Given the description of an element on the screen output the (x, y) to click on. 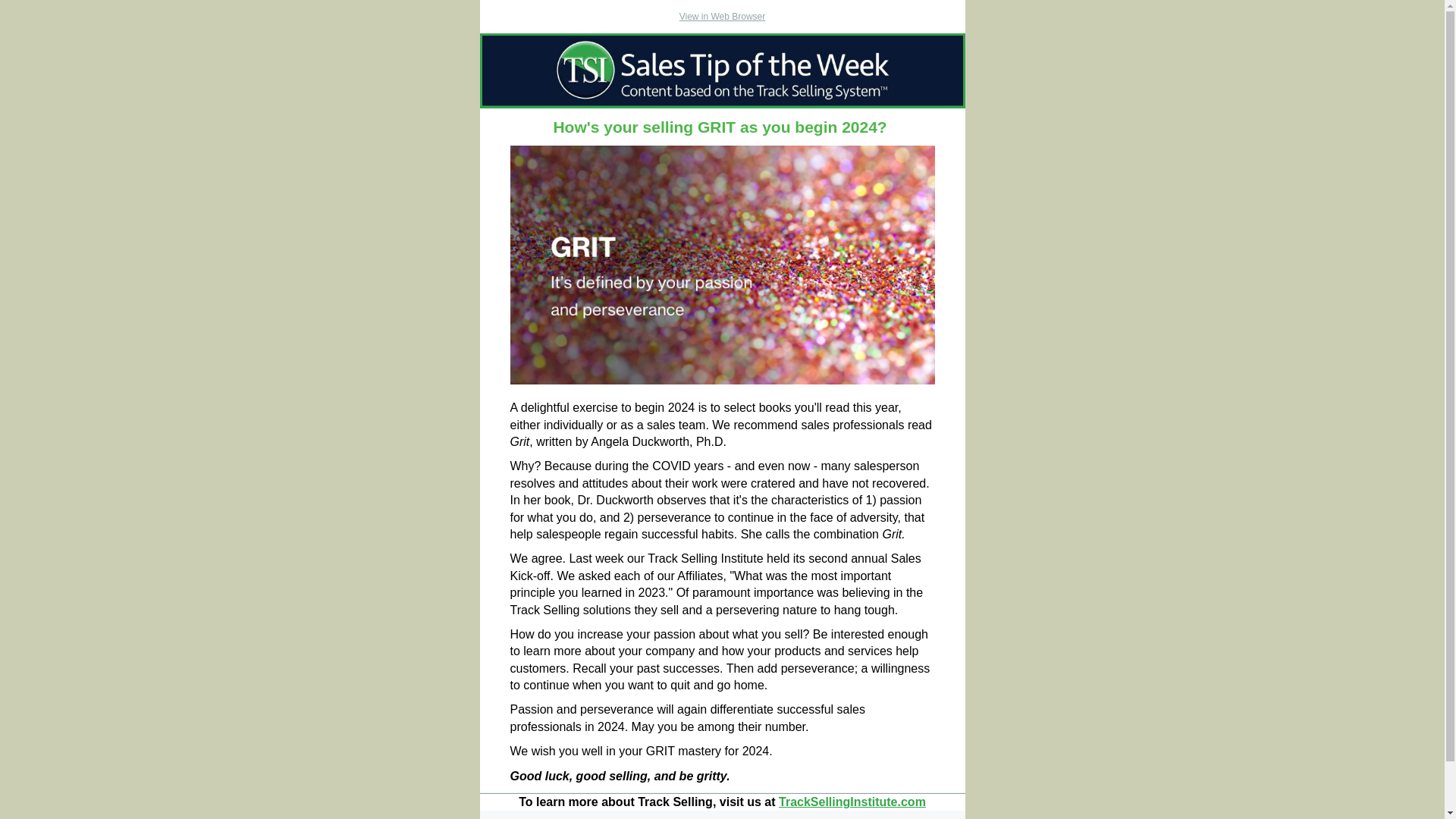
View in Web Browser (722, 16)
Track Selling Institute (852, 801)
TrackSellingInstitute.com (852, 801)
